Given the description of an element on the screen output the (x, y) to click on. 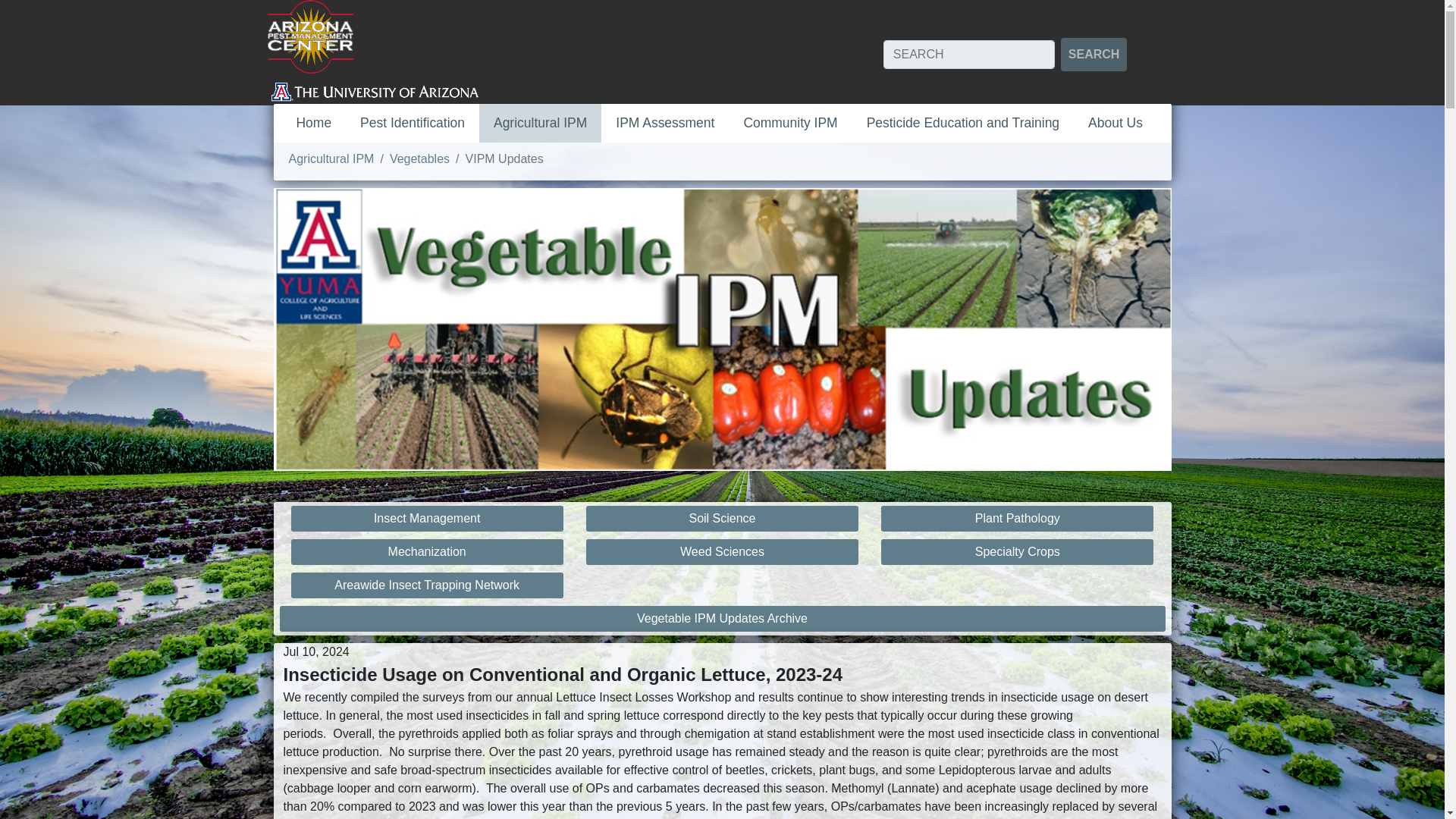
SEARCH (1093, 54)
Search input (968, 54)
